Given the description of an element on the screen output the (x, y) to click on. 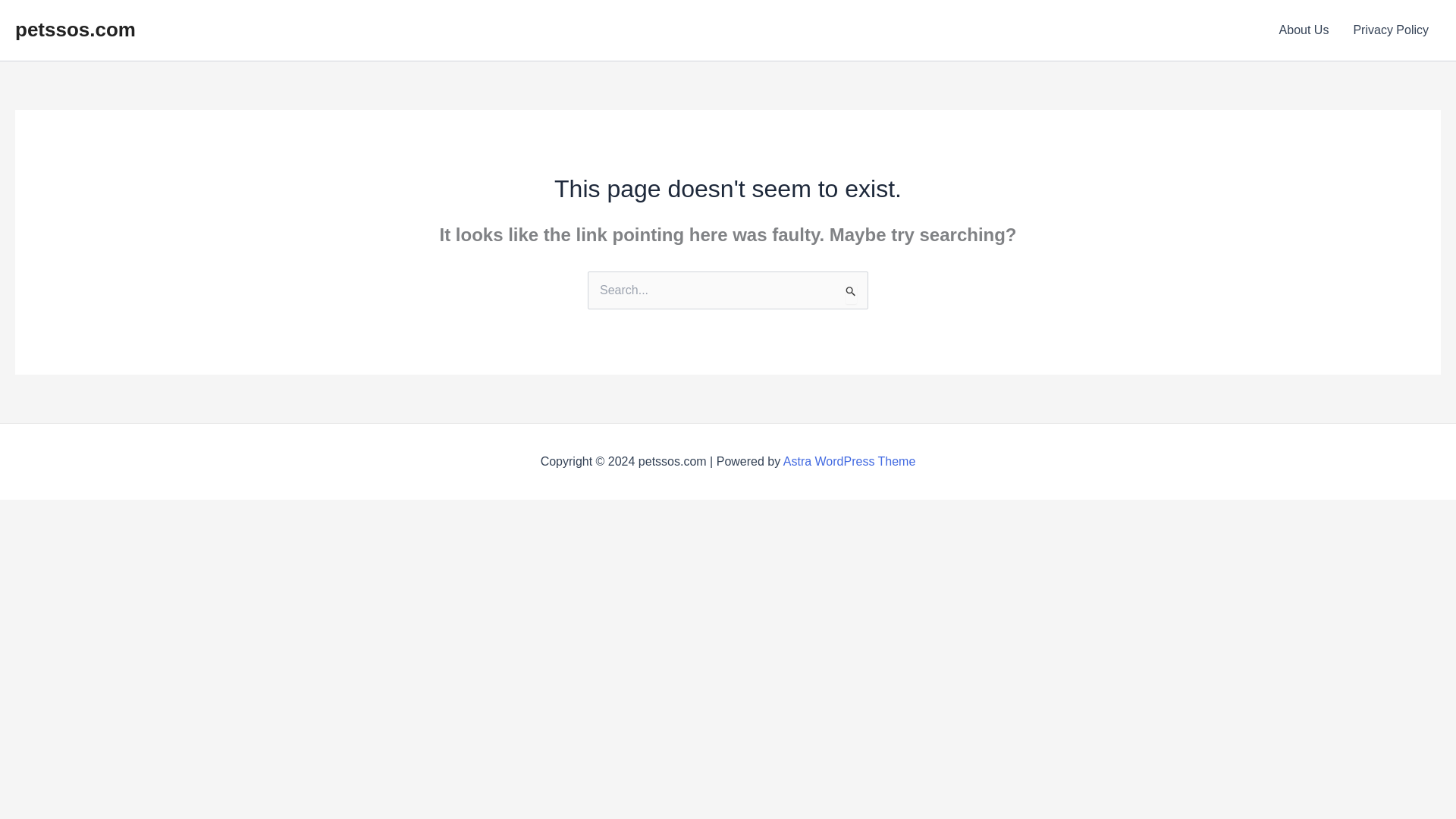
petssos.com (74, 29)
Privacy Policy (1390, 30)
Astra WordPress Theme (849, 461)
About Us (1303, 30)
